Given the description of an element on the screen output the (x, y) to click on. 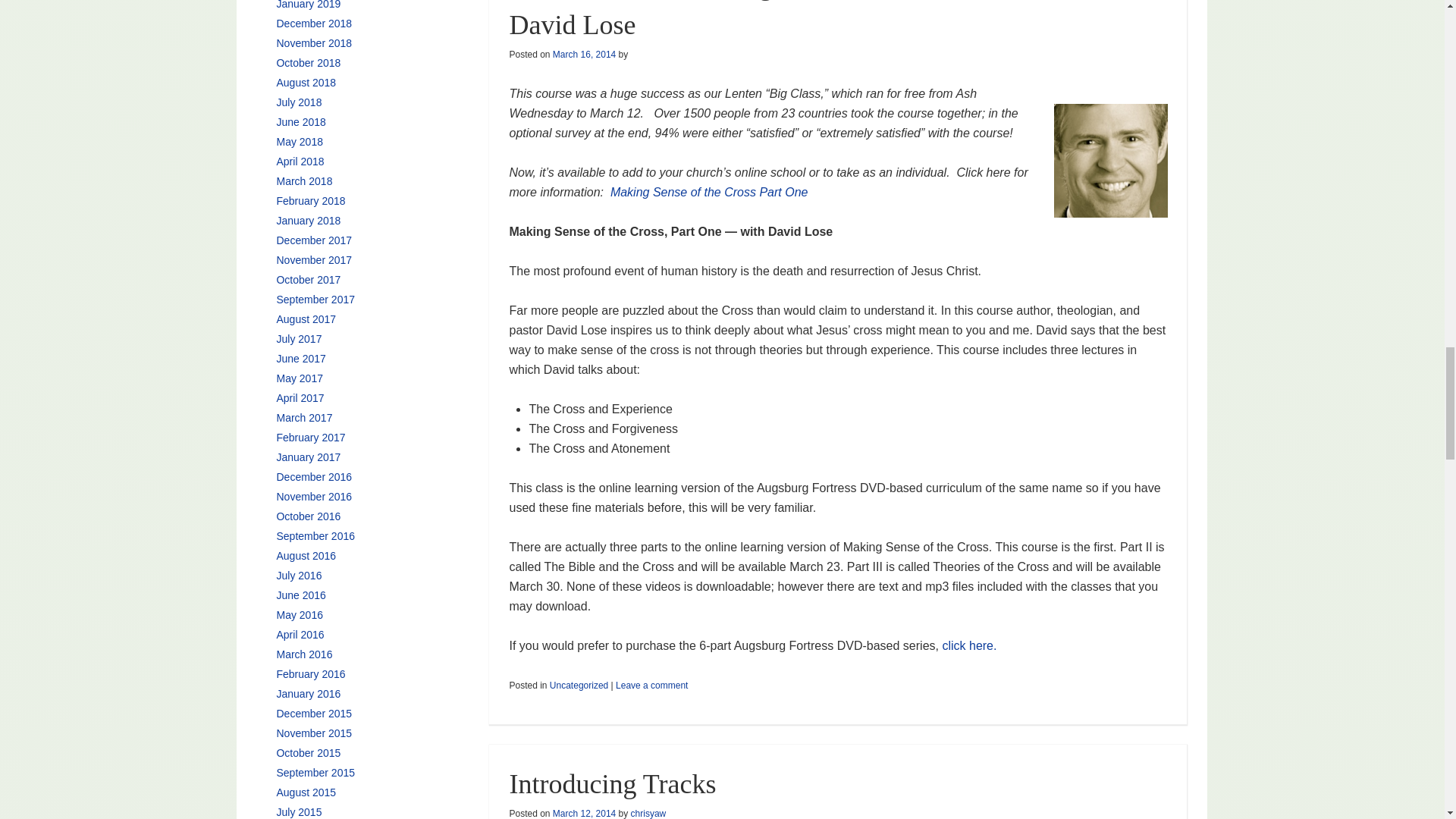
6:27 am (584, 813)
5:00 am (584, 54)
View all posts by chrisyaw (648, 813)
